Given the description of an element on the screen output the (x, y) to click on. 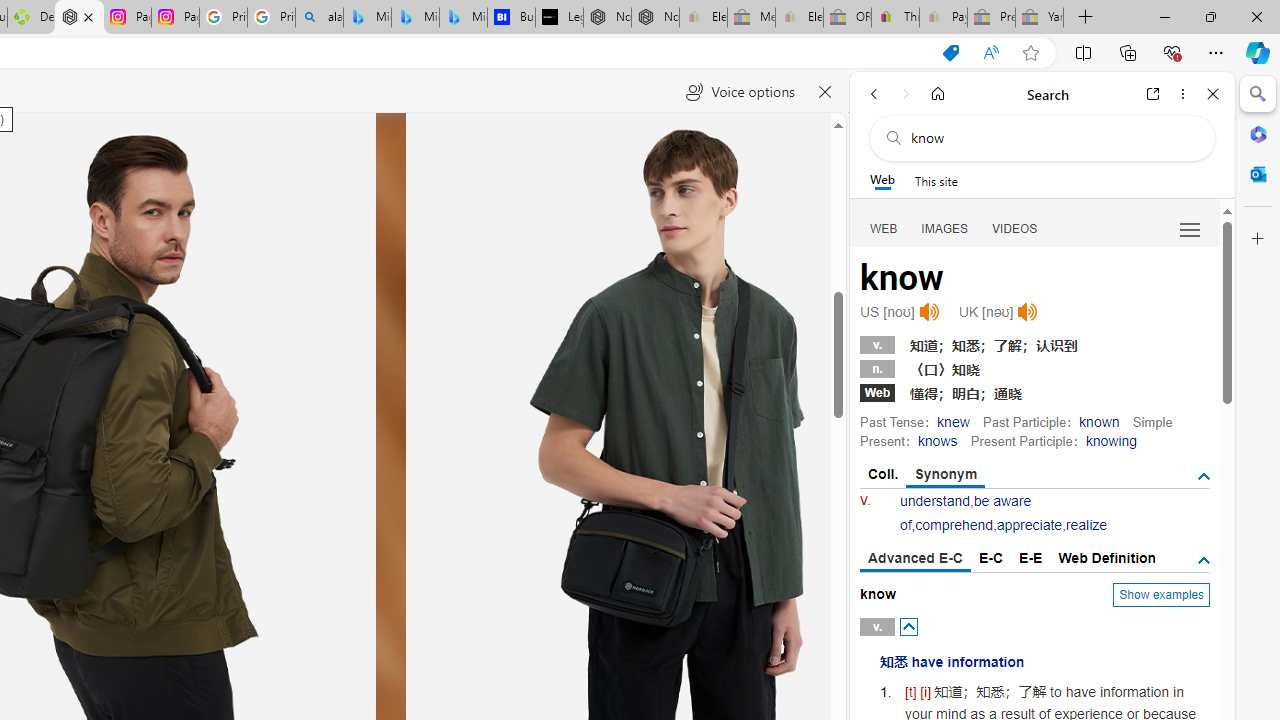
Coll. (883, 473)
Threats and offensive language policy | eBay (895, 17)
Preferences (1189, 228)
AutomationID: tgdef (1203, 561)
IMAGES (944, 228)
Search the web (1051, 137)
VIDEOS (1015, 228)
Close read aloud (825, 92)
Yard, Garden & Outdoor Living - Sleeping (1039, 17)
Web Definition (1106, 557)
Search Filter, WEB (884, 228)
